Given the description of an element on the screen output the (x, y) to click on. 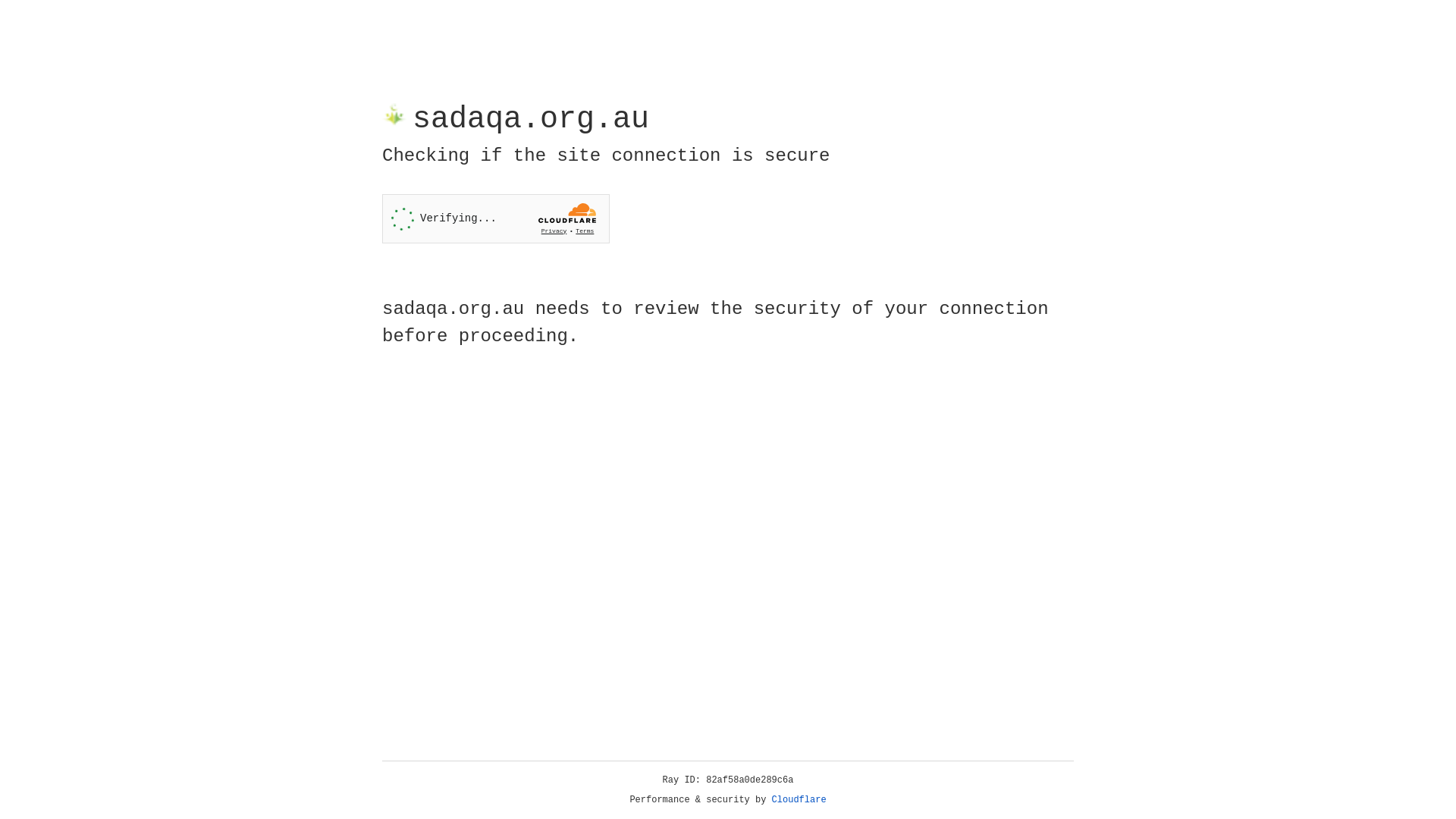
Cloudflare Element type: text (798, 799)
Widget containing a Cloudflare security challenge Element type: hover (495, 218)
